Given the description of an element on the screen output the (x, y) to click on. 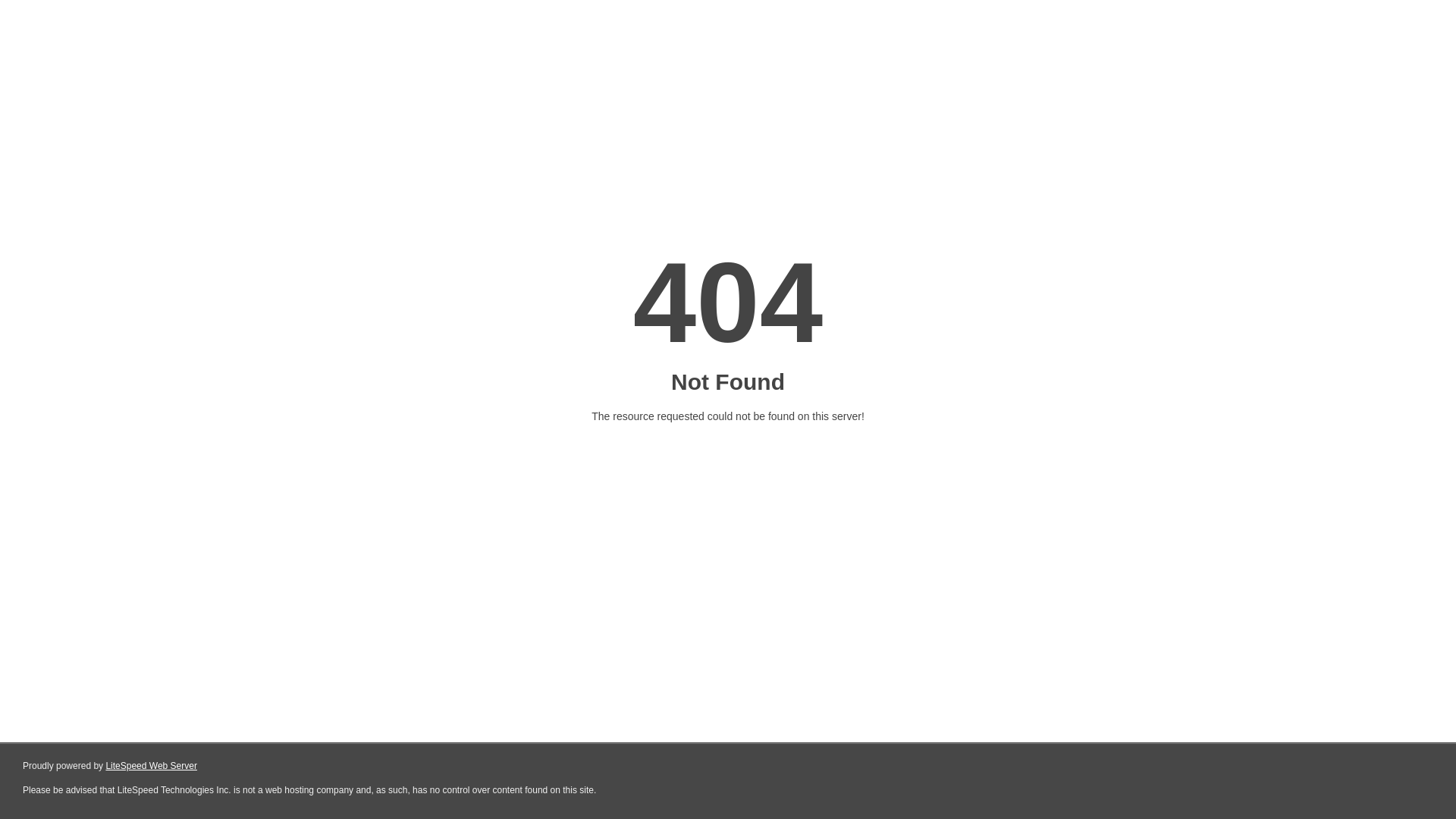
LiteSpeed Web Server Element type: text (151, 765)
